Given the description of an element on the screen output the (x, y) to click on. 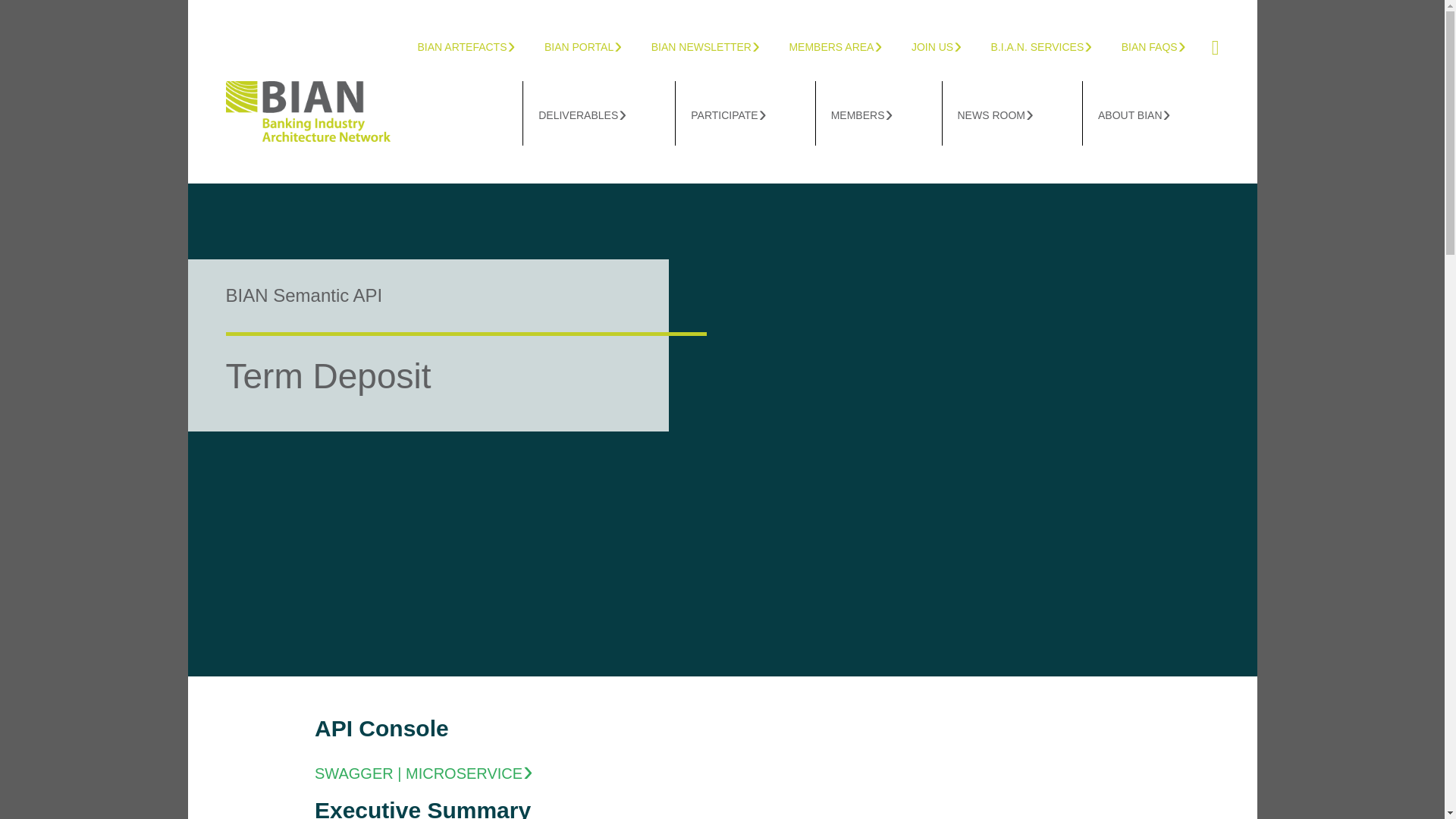
B.I.A.N. SERVICES (1054, 44)
DELIVERABLES (598, 113)
JOIN US (949, 44)
PARTICIPATE (744, 113)
BIAN ARTEFACTS (478, 44)
MEMBERS (878, 113)
BIAN NEWSLETTER (718, 44)
BIAN PORTAL (595, 44)
BIAN FAQS (1166, 44)
MEMBERS AREA (848, 44)
